Given the description of an element on the screen output the (x, y) to click on. 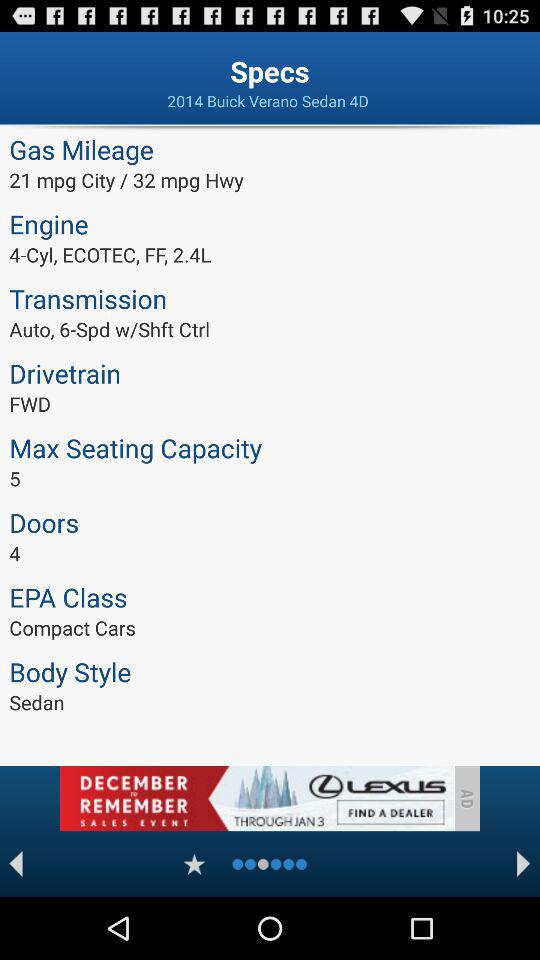
go to next spec option (523, 864)
